Given the description of an element on the screen output the (x, y) to click on. 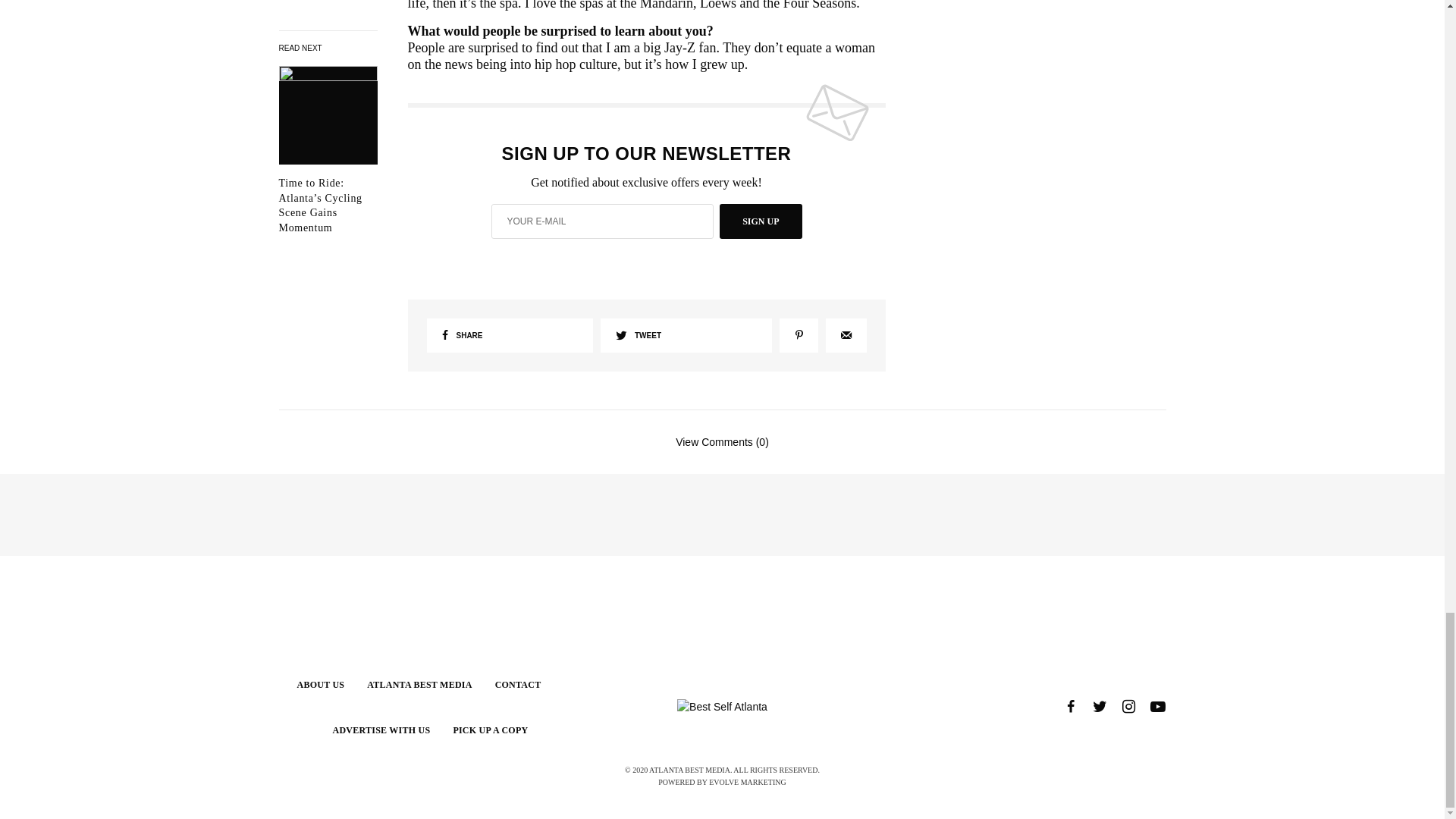
SIGN UP (760, 221)
TWEET (685, 335)
Best Self Atlanta (722, 707)
SHARE (509, 335)
